Given the description of an element on the screen output the (x, y) to click on. 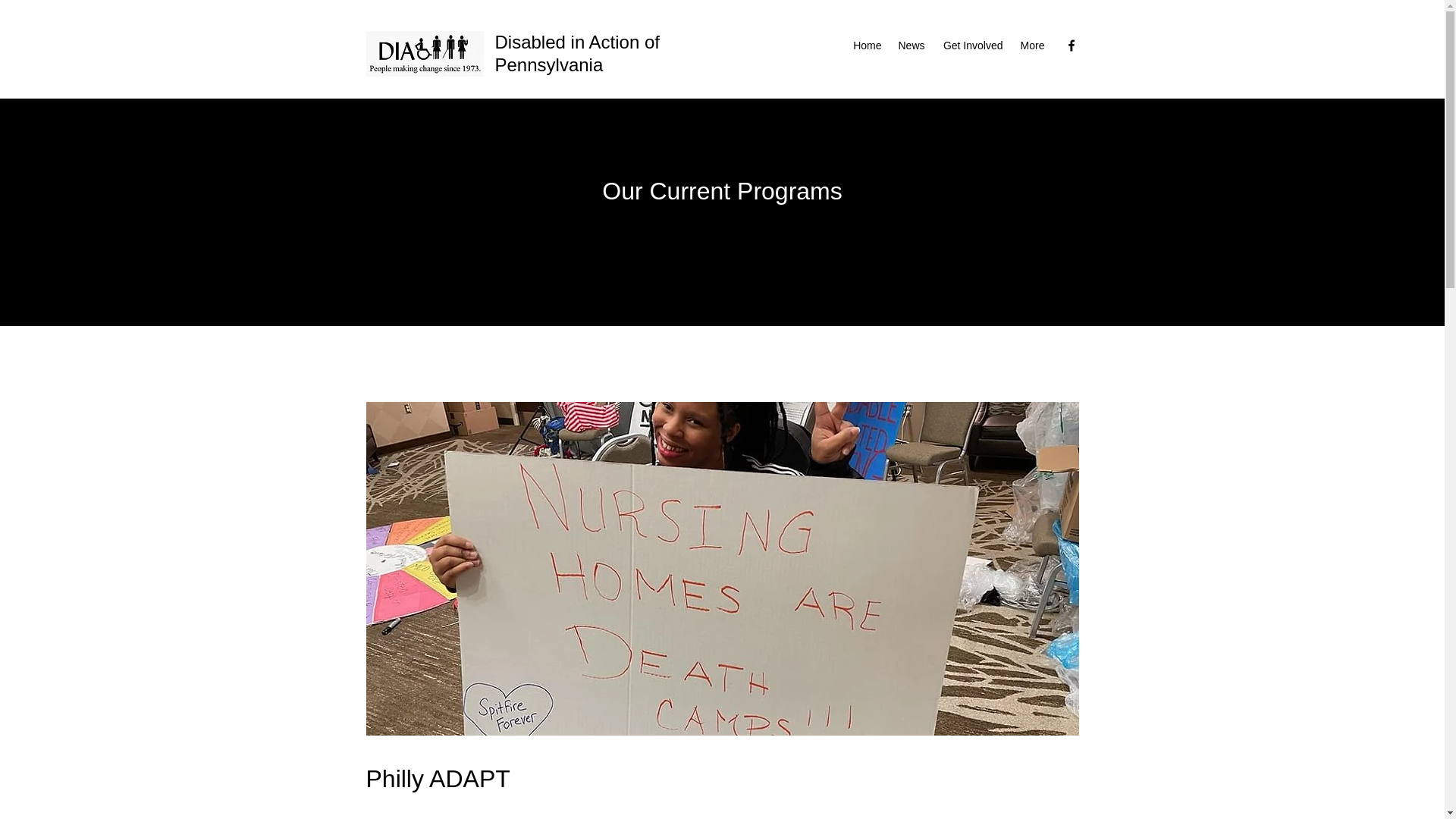
Home (866, 45)
News (909, 45)
Get Involved (971, 45)
